Given the description of an element on the screen output the (x, y) to click on. 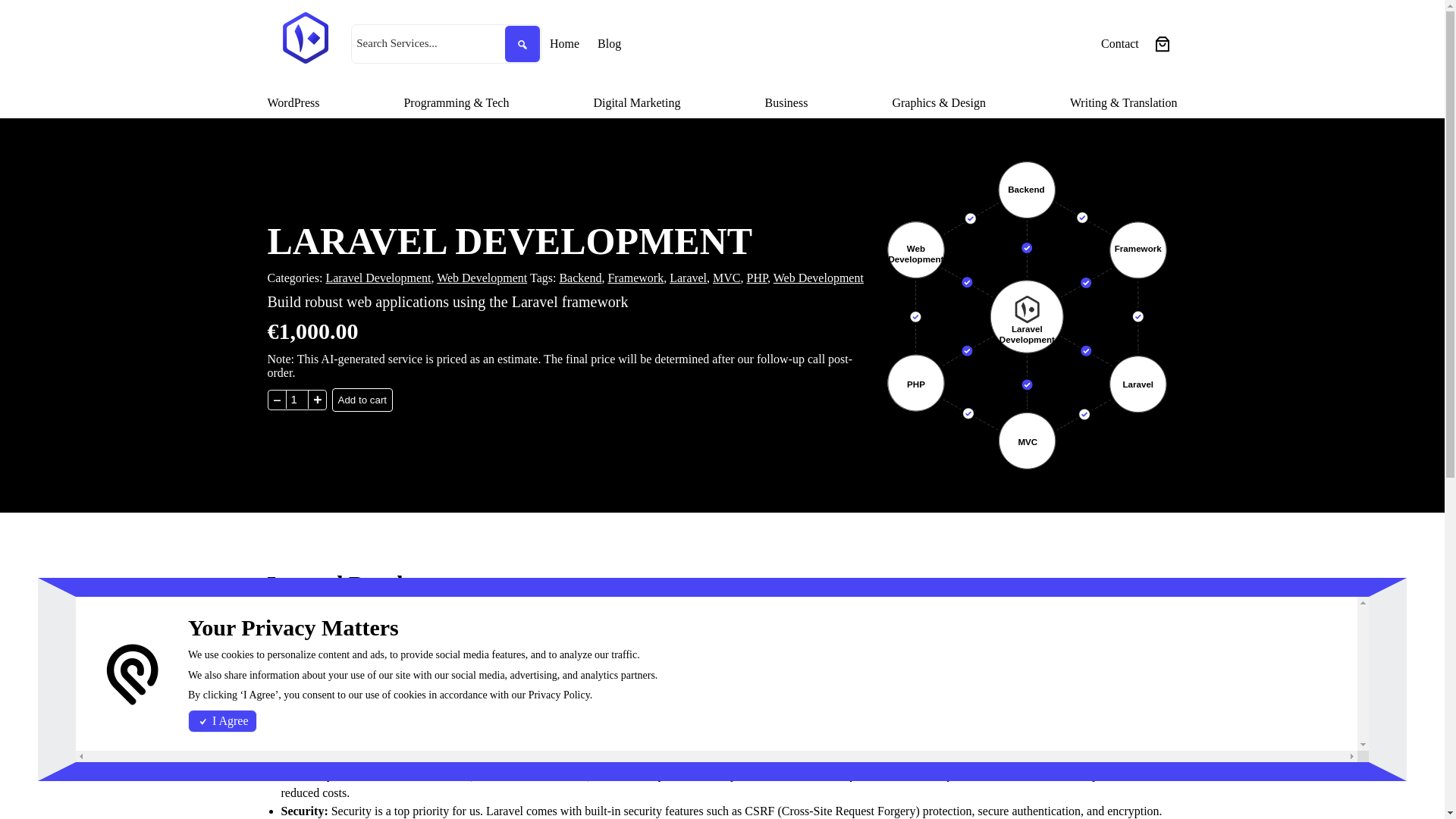
PHP (756, 277)
Digital Marketing (635, 103)
Laravel Development (377, 277)
Contact (1119, 44)
Backend (580, 277)
1 (296, 399)
Business (786, 103)
Web Development (481, 277)
Home (564, 44)
Framework (635, 277)
Web Development (818, 277)
Blog (608, 44)
I Agree (222, 721)
WordPress (292, 103)
Laravel (687, 277)
